Given the description of an element on the screen output the (x, y) to click on. 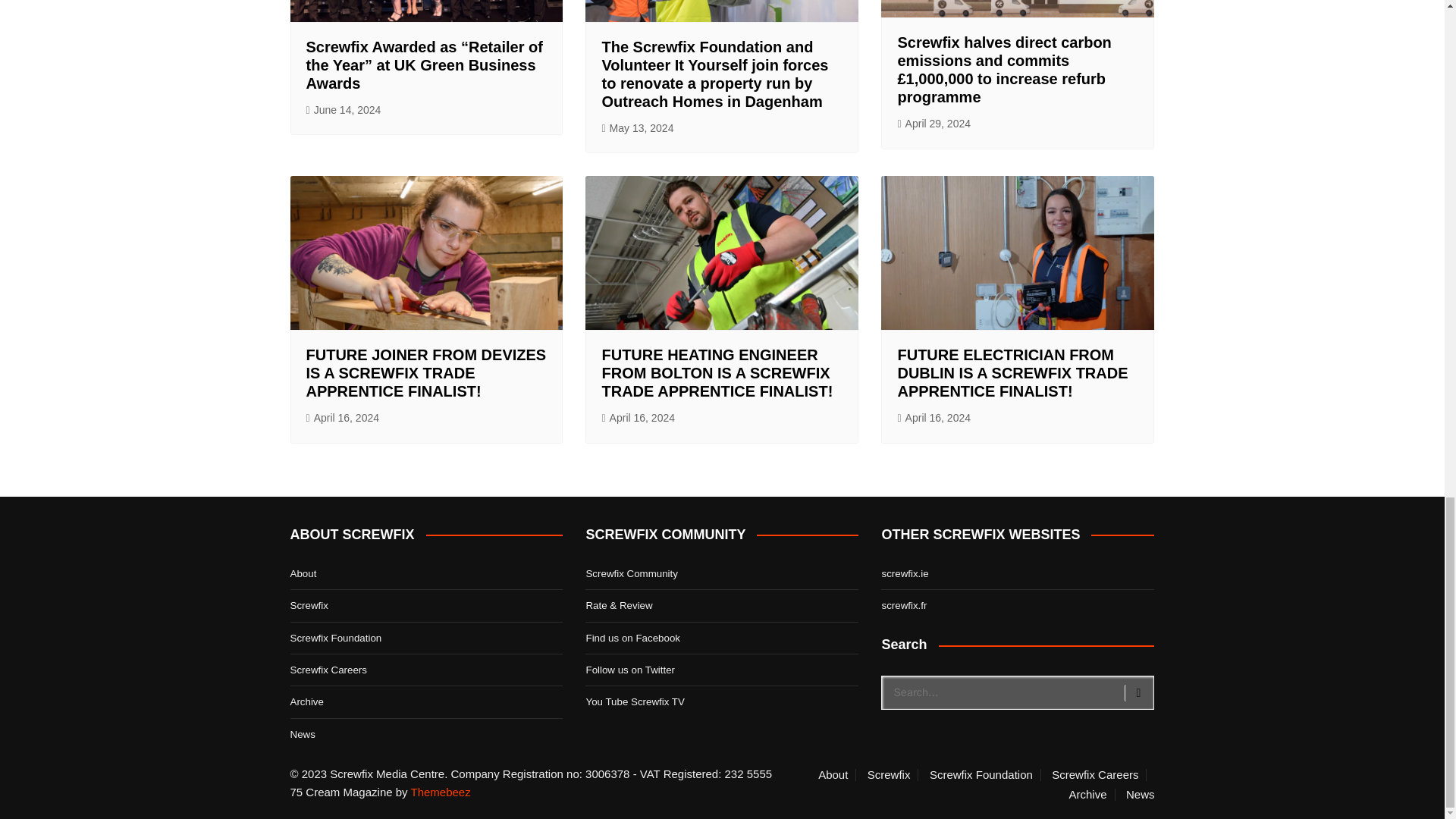
May 13, 2024 (636, 128)
June 14, 2024 (343, 109)
April 29, 2024 (933, 123)
April 16, 2024 (342, 417)
